Given the description of an element on the screen output the (x, y) to click on. 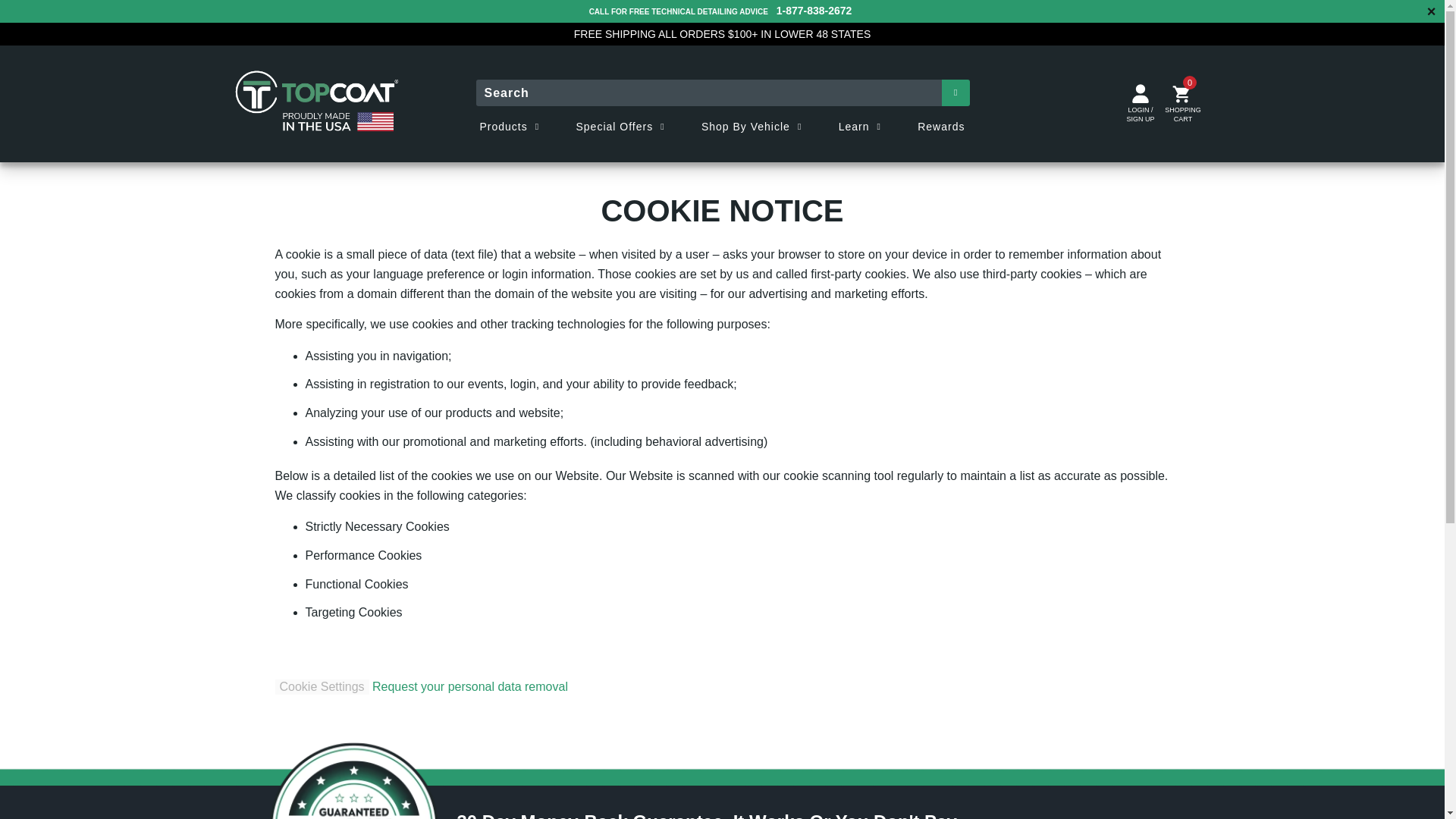
tel:1-877-838-2672 (814, 10)
1-877-838-2672 (814, 10)
TopCoat Products, LLC (316, 103)
